Given the description of an element on the screen output the (x, y) to click on. 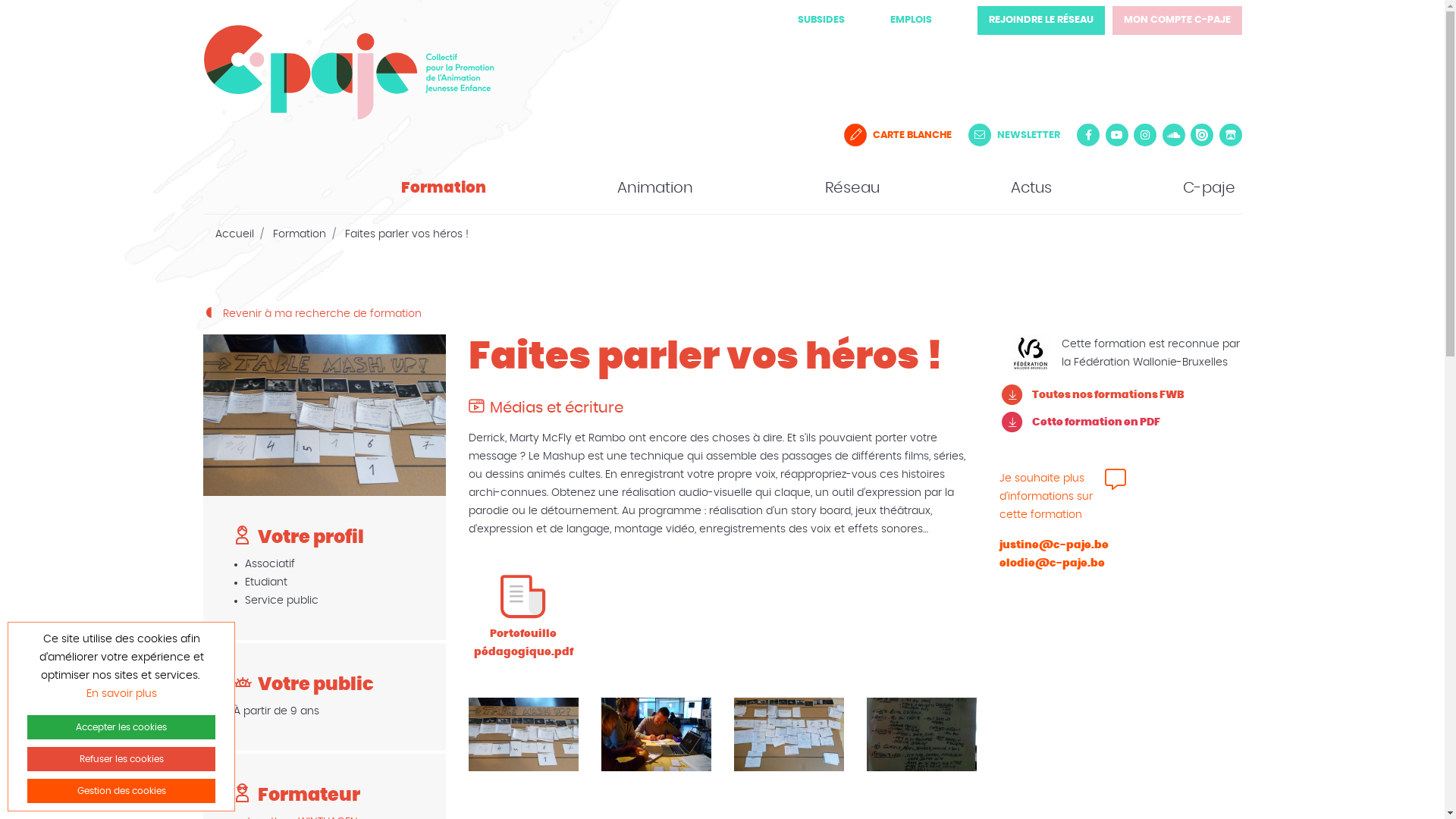
Formation Element type: text (299, 234)
elodie@c-paje.be Element type: text (1051, 563)
Toutes nos formations FWB Element type: text (1120, 394)
Accueil Element type: text (234, 234)
Soundcloud Element type: hover (1172, 134)
Refuser les cookies Element type: text (121, 758)
Itch.io Element type: hover (1230, 134)
MON COMPTE C-PAJE Element type: text (1176, 20)
Issuu Element type: hover (1201, 134)
Gestion des cookies Element type: text (121, 790)
SUBSIDES Element type: text (820, 20)
Youtube Element type: hover (1116, 134)
Animation Element type: text (651, 187)
justine@c-paje.be Element type: text (1053, 544)
Instagram Element type: hover (1144, 134)
Facebook Element type: hover (1087, 134)
C-paje Element type: text (1205, 187)
Actus Element type: text (1027, 187)
Cette formation en PDF Element type: text (1120, 422)
EMPLOIS Element type: text (910, 20)
En savoir plus Element type: text (121, 693)
Formation Element type: text (439, 187)
Accepter les cookies Element type: text (121, 727)
